Given the description of an element on the screen output the (x, y) to click on. 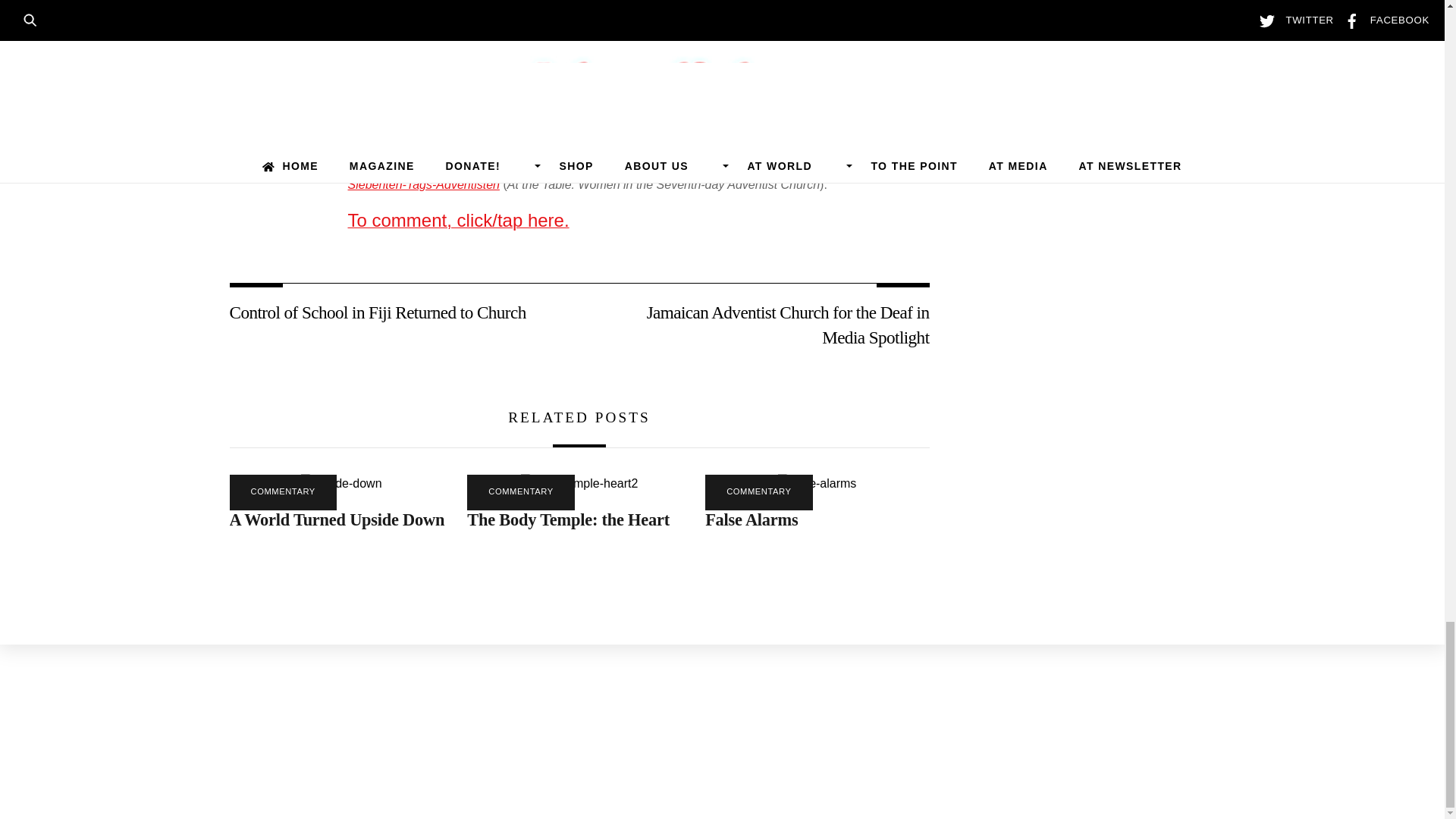
upside-down (341, 483)
body-temple-heart2 (580, 483)
false-alarms (816, 483)
